Given the description of an element on the screen output the (x, y) to click on. 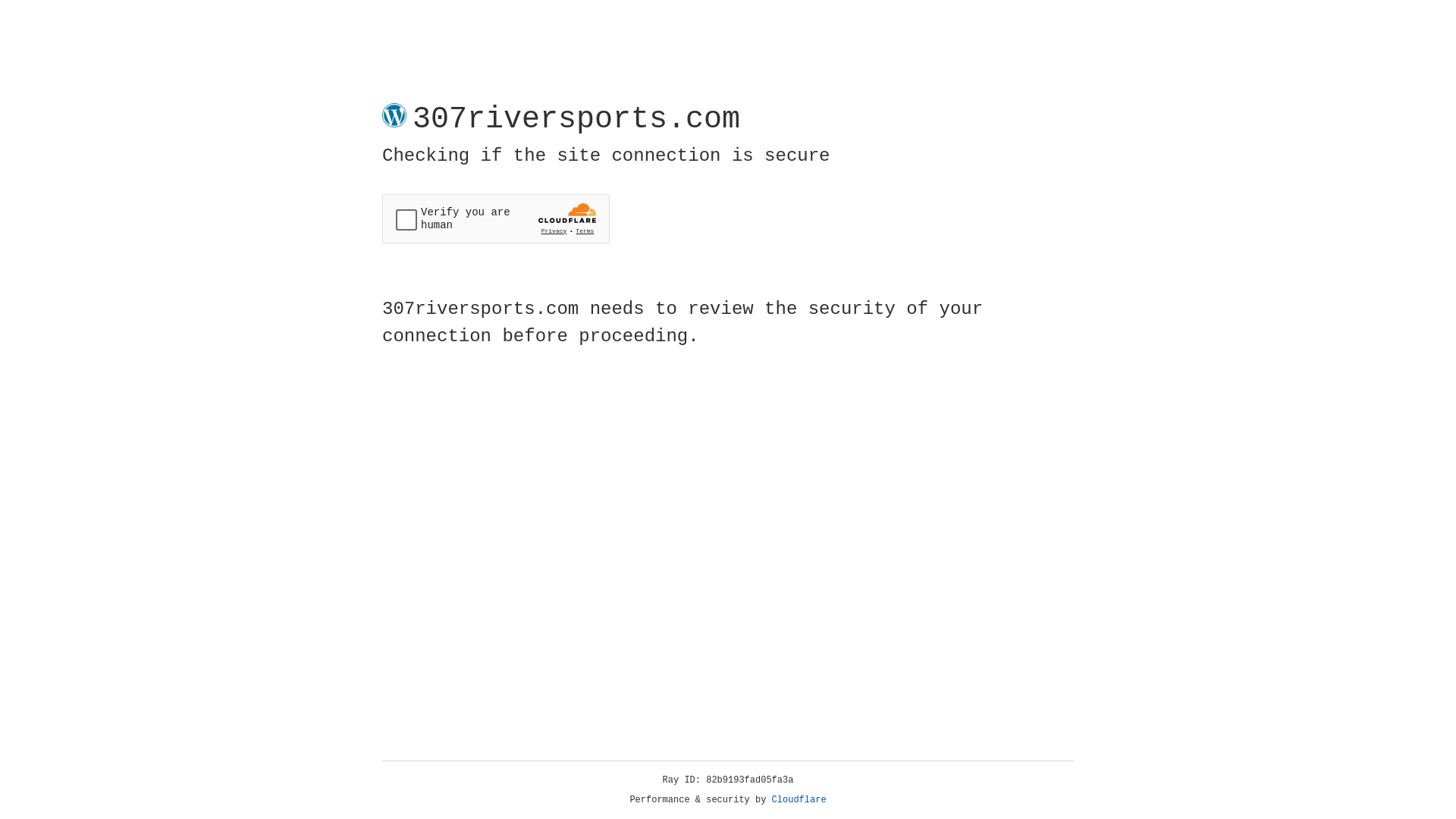
Cloudflare Element type: text (798, 799)
Widget containing a Cloudflare security challenge Element type: hover (495, 218)
